Given the description of an element on the screen output the (x, y) to click on. 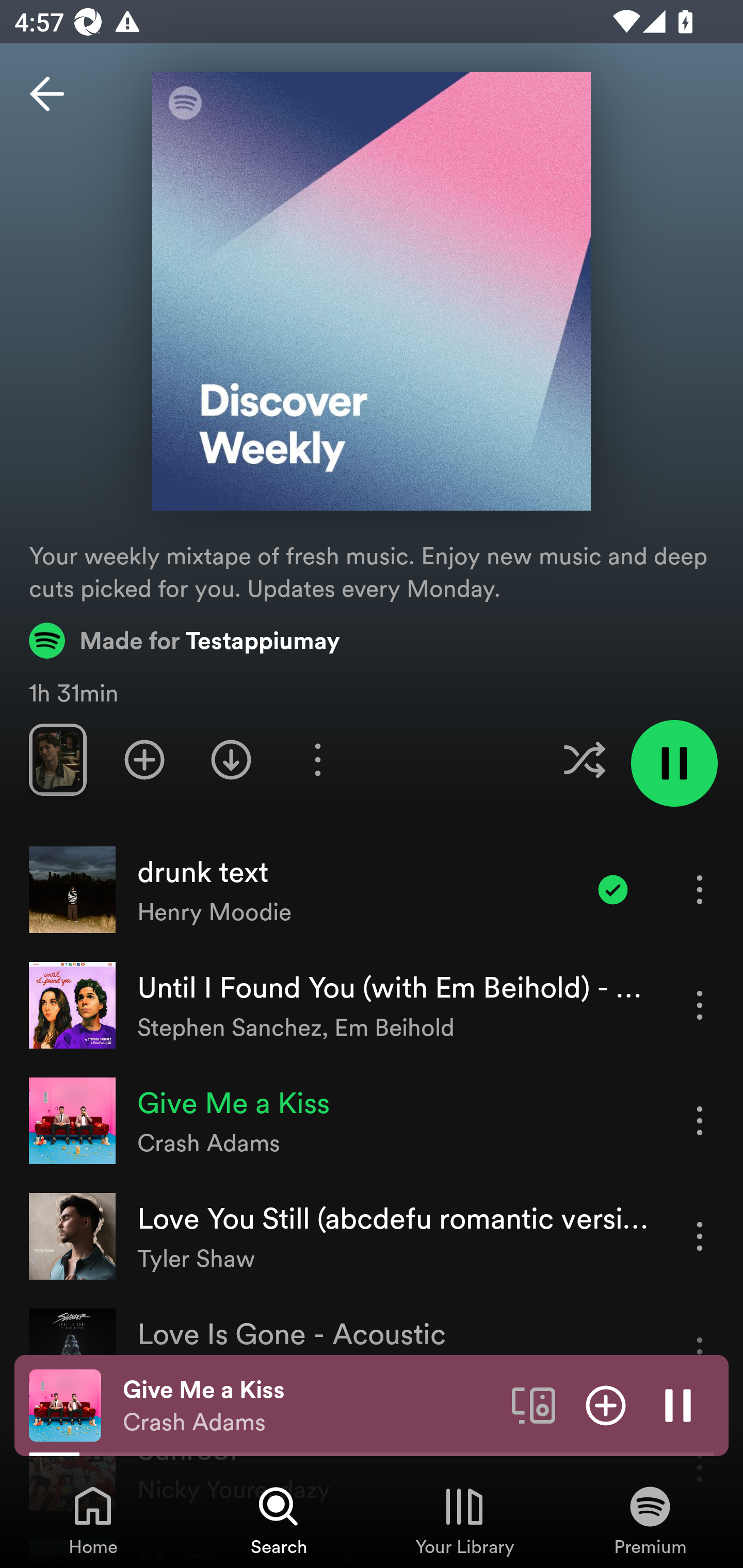
Back (46, 93)
Made for Testappiumay (184, 640)
Swipe through previews of tracks in this playlist. (57, 759)
Add playlist to Your Library (144, 759)
Download (230, 759)
More options for playlist Discover Weekly (317, 759)
Enable shuffle for this playlist (583, 759)
Pause playlist (674, 763)
Item added (612, 889)
More options for song drunk text (699, 889)
More options for song Give Me a Kiss (699, 1120)
Give Me a Kiss Crash Adams (309, 1405)
The cover art of the currently playing track (64, 1404)
Connect to a device. Opens the devices menu (533, 1404)
Add item (605, 1404)
Pause (677, 1404)
Home, Tab 1 of 4 Home Home (92, 1519)
Search, Tab 2 of 4 Search Search (278, 1519)
Your Library, Tab 3 of 4 Your Library Your Library (464, 1519)
Premium, Tab 4 of 4 Premium Premium (650, 1519)
